Given the description of an element on the screen output the (x, y) to click on. 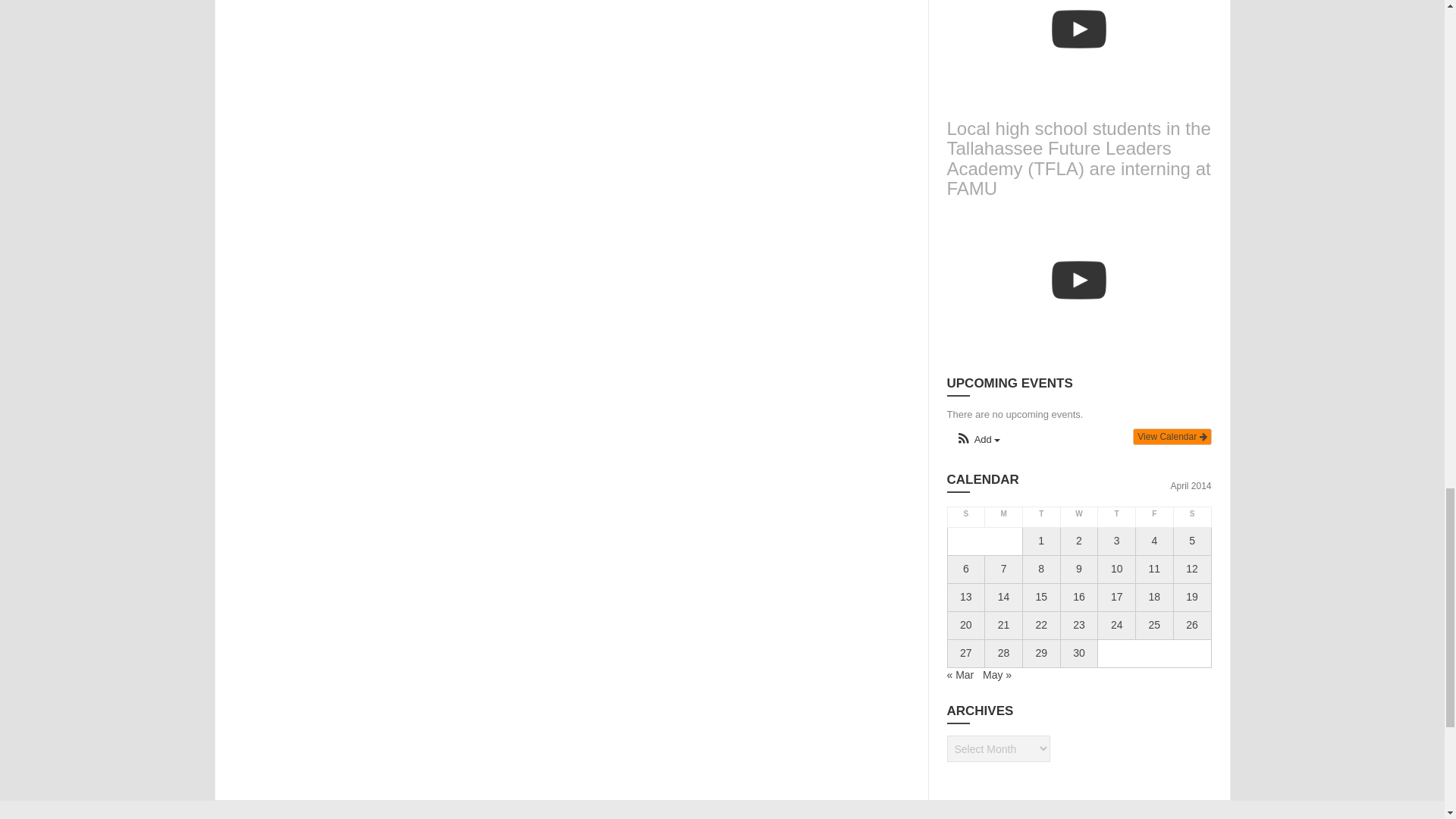
Sunday (966, 516)
